Given the description of an element on the screen output the (x, y) to click on. 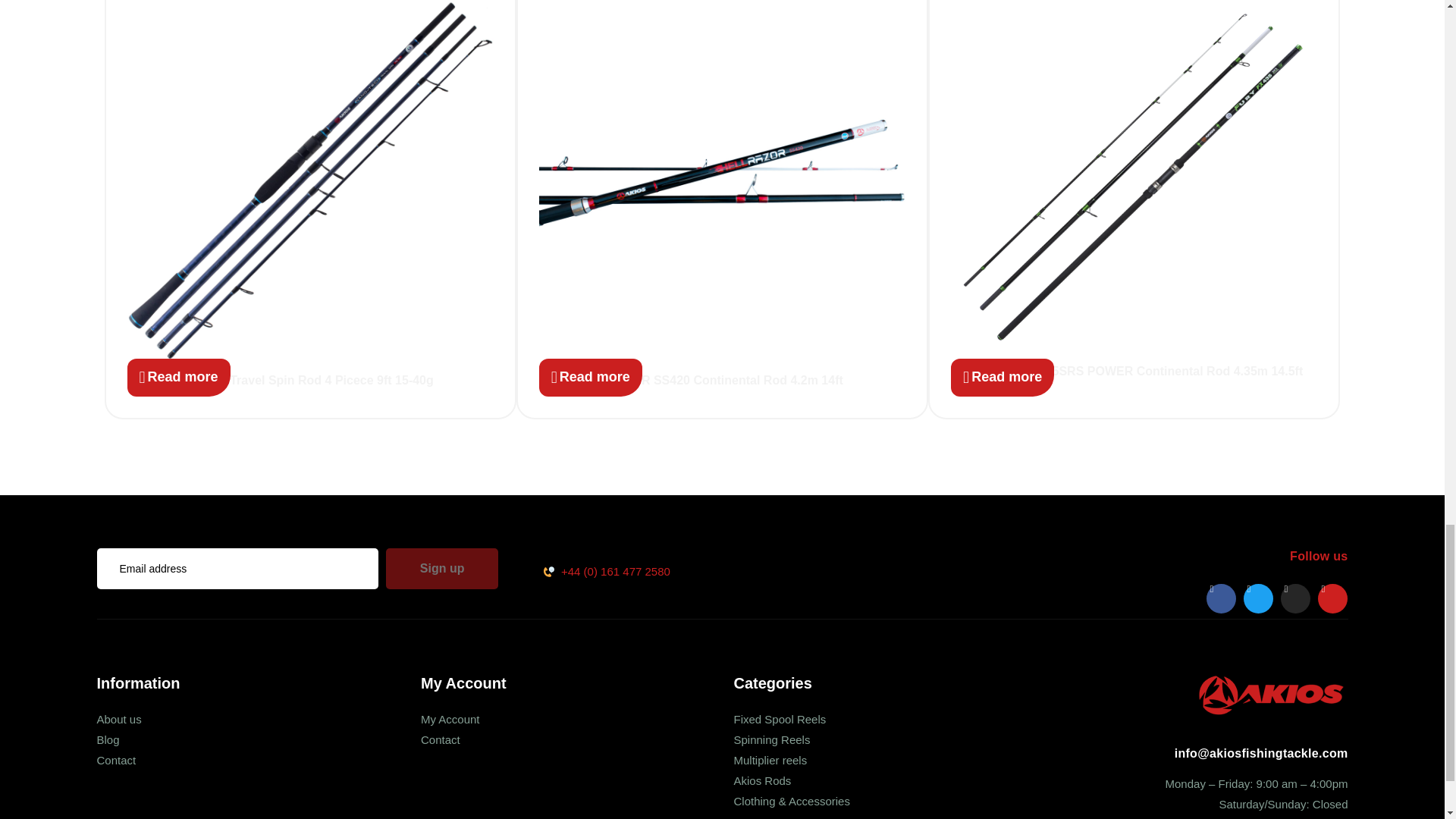
Sign up (442, 567)
